Given the description of an element on the screen output the (x, y) to click on. 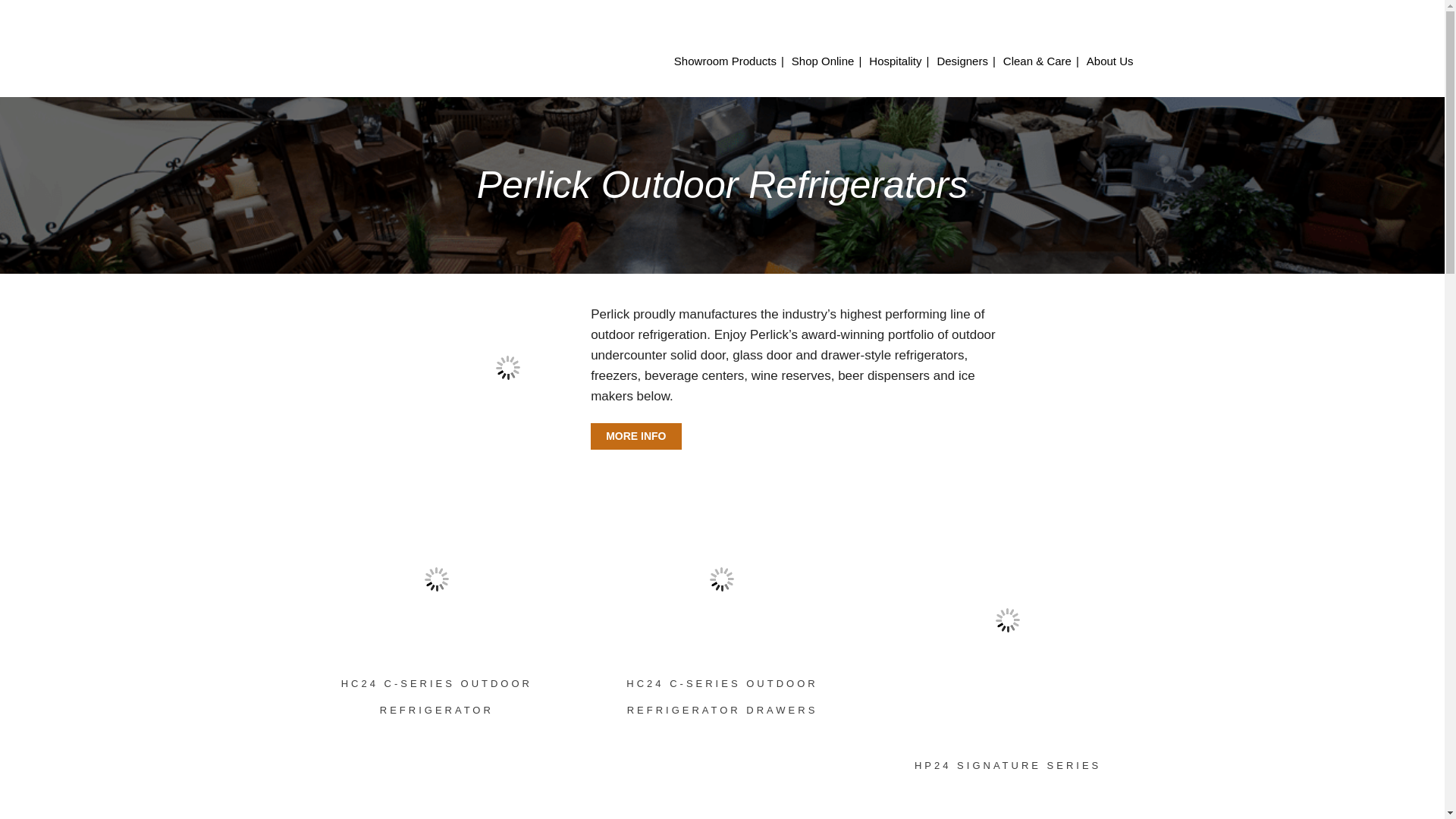
Showroom Products (725, 61)
Hospitality (895, 61)
Perlick - HP24 SIGNATURE SERIES (1007, 619)
perlick (507, 367)
Shop Online (823, 61)
